Given the description of an element on the screen output the (x, y) to click on. 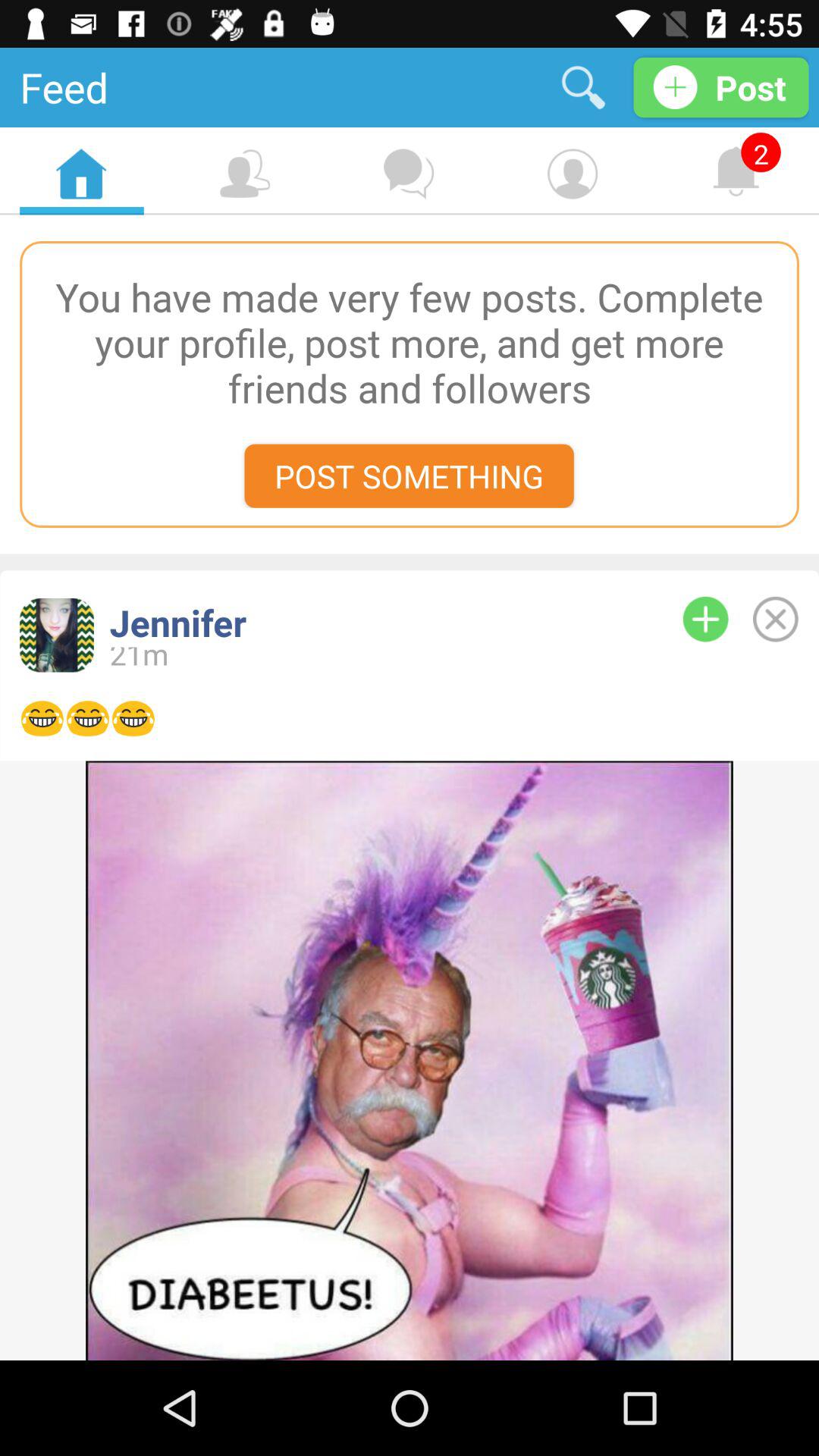
launch the post something icon (408, 475)
